Given the description of an element on the screen output the (x, y) to click on. 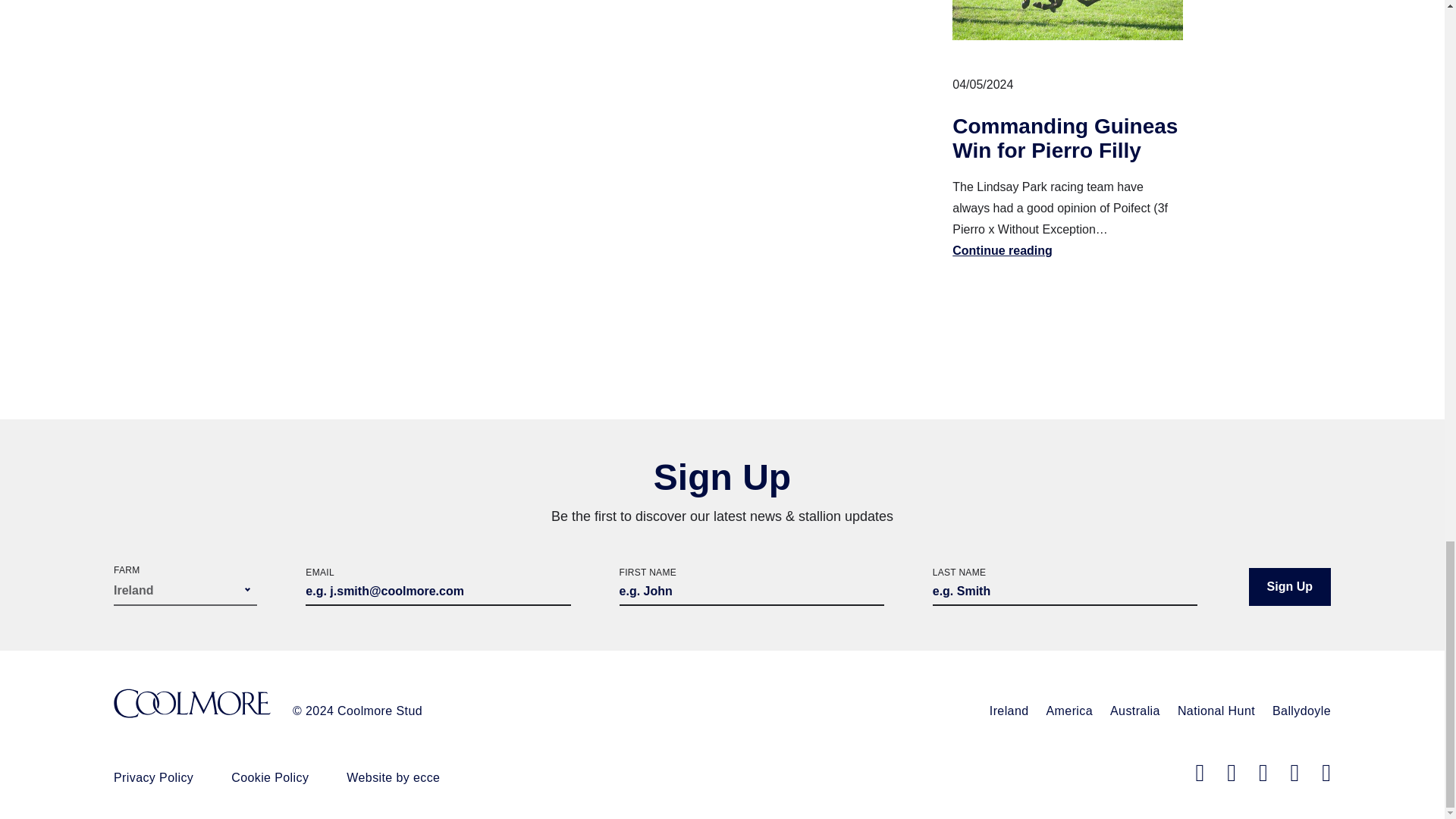
Cookie Policy (269, 777)
America (1069, 710)
Website by ecce (392, 777)
Coolmore (191, 704)
Privacy Policy (153, 777)
Australia (1134, 710)
Sign Up (1289, 587)
Ballydoyle (1301, 710)
National Hunt (1216, 710)
Ireland (1009, 710)
